Given the description of an element on the screen output the (x, y) to click on. 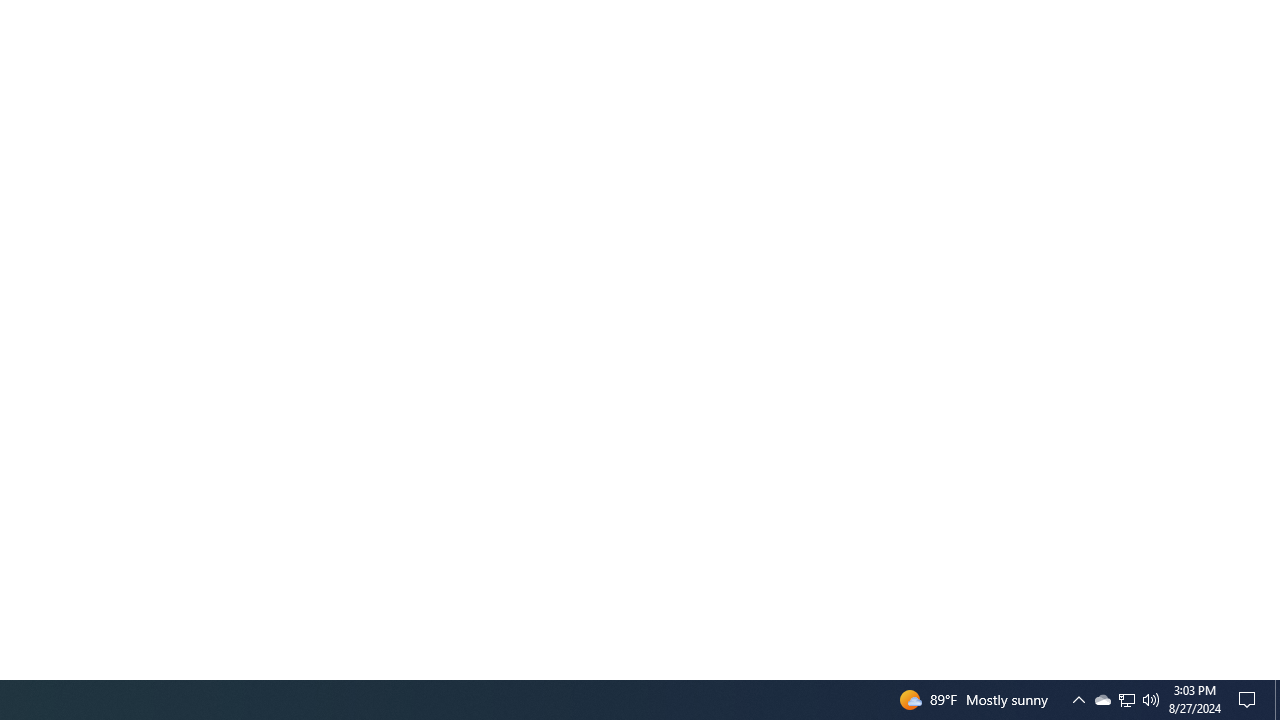
Action Center, No new notifications (1126, 699)
Q2790: 100% (1250, 699)
User Promoted Notification Area (1102, 699)
Notification Chevron (1151, 699)
Show desktop (1126, 699)
